Given the description of an element on the screen output the (x, y) to click on. 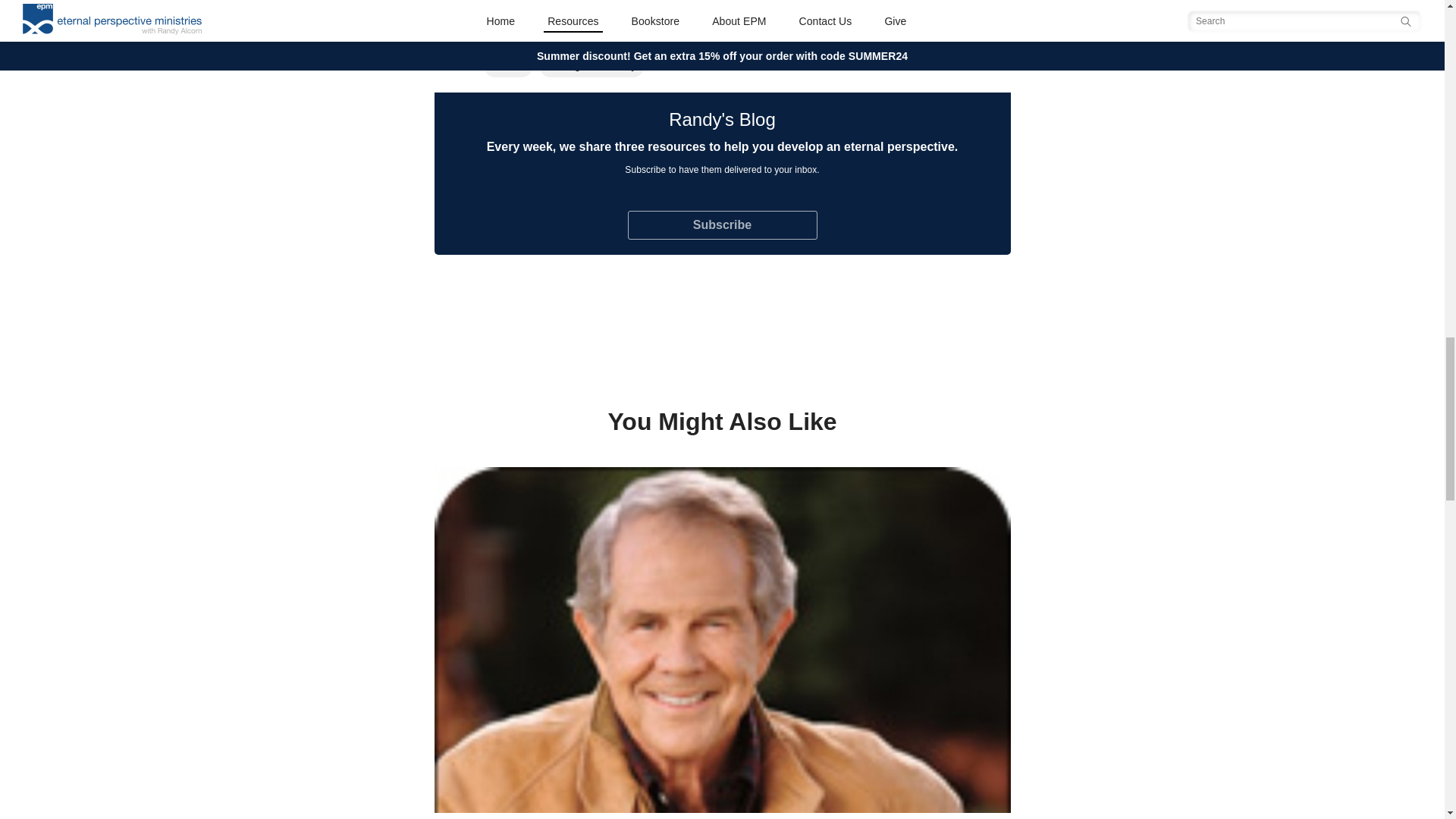
books (683, 26)
Eternal Perspective Ministries (887, 26)
Subscribe (721, 224)
Marriage and Family (591, 65)
Church (508, 65)
